Given the description of an element on the screen output the (x, y) to click on. 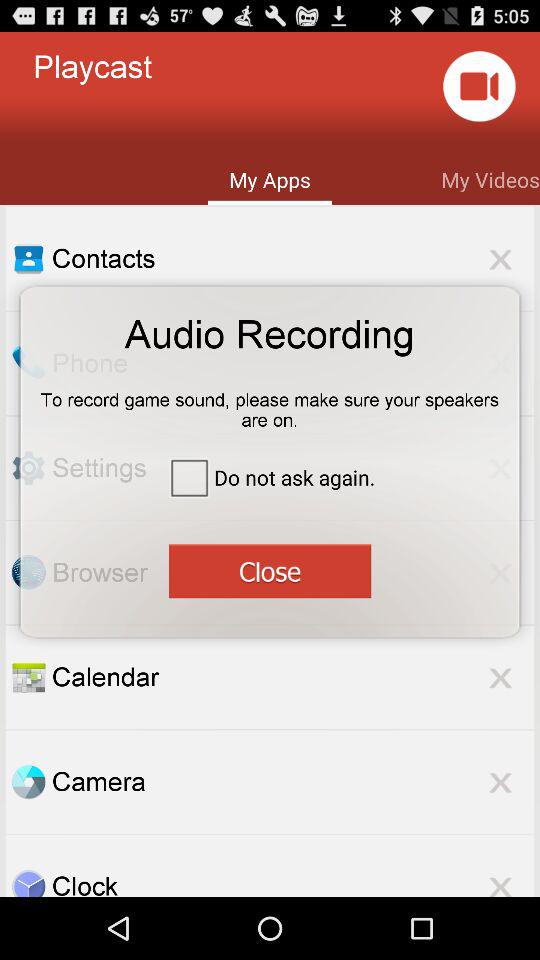
jump until do not ask checkbox (269, 476)
